Given the description of an element on the screen output the (x, y) to click on. 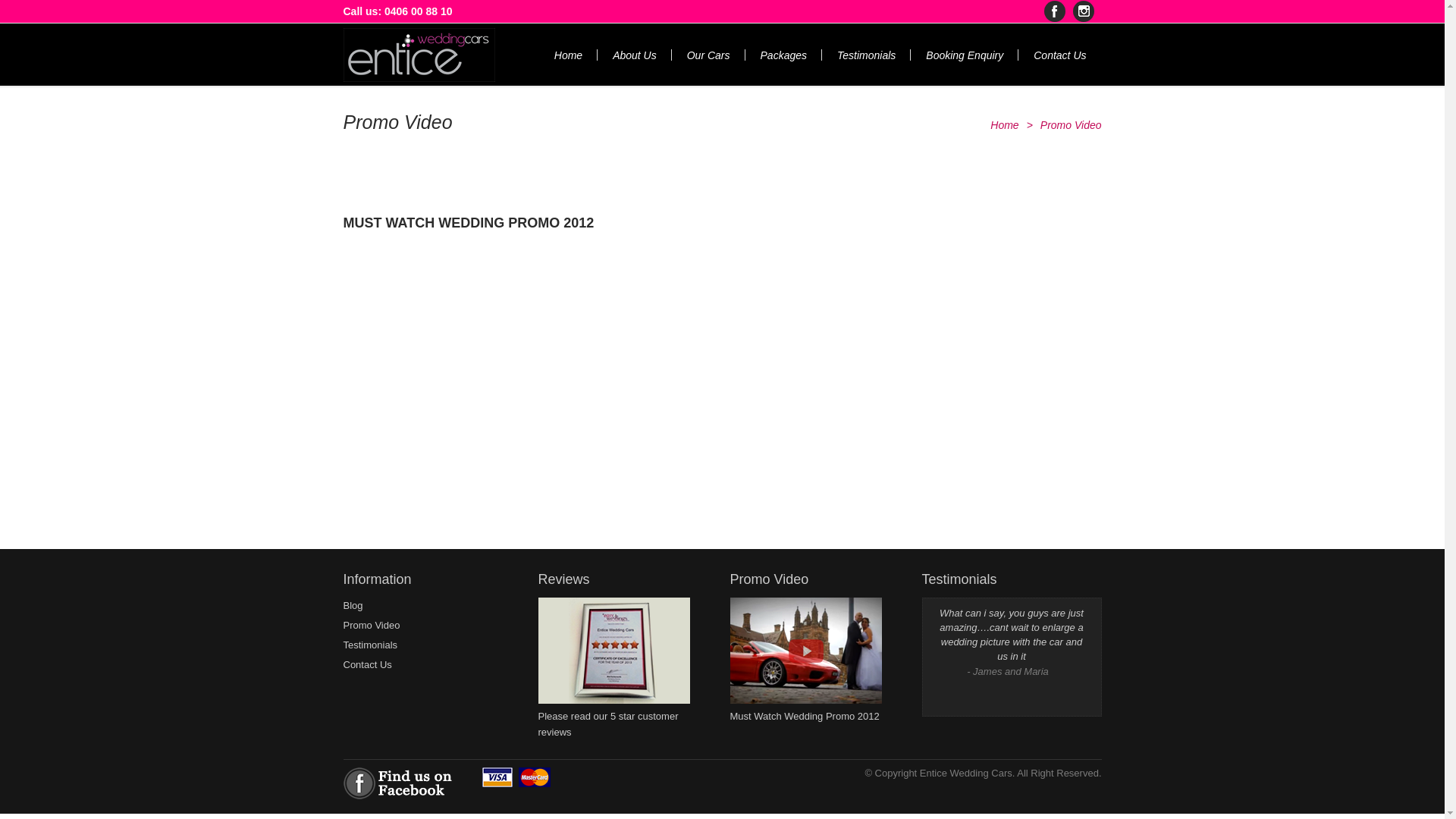
Contact Us Element type: text (366, 664)
Booking Enquiry Element type: text (964, 54)
About Us Element type: text (634, 54)
Testimonials Element type: text (369, 644)
Home Element type: text (568, 54)
Must Watch Wedding Promo 2012 Element type: text (805, 707)
Blog Element type: text (352, 605)
Packages Element type: text (783, 54)
Promo Video Element type: text (370, 624)
Our Cars Element type: text (708, 54)
Testimonials Element type: text (866, 54)
instagram Element type: text (1082, 10)
facebook Element type: text (1053, 10)
Home Element type: text (1004, 125)
Contact Us Element type: text (1059, 54)
Please read our 5 star customer
reviews Element type: text (614, 715)
